Given the description of an element on the screen output the (x, y) to click on. 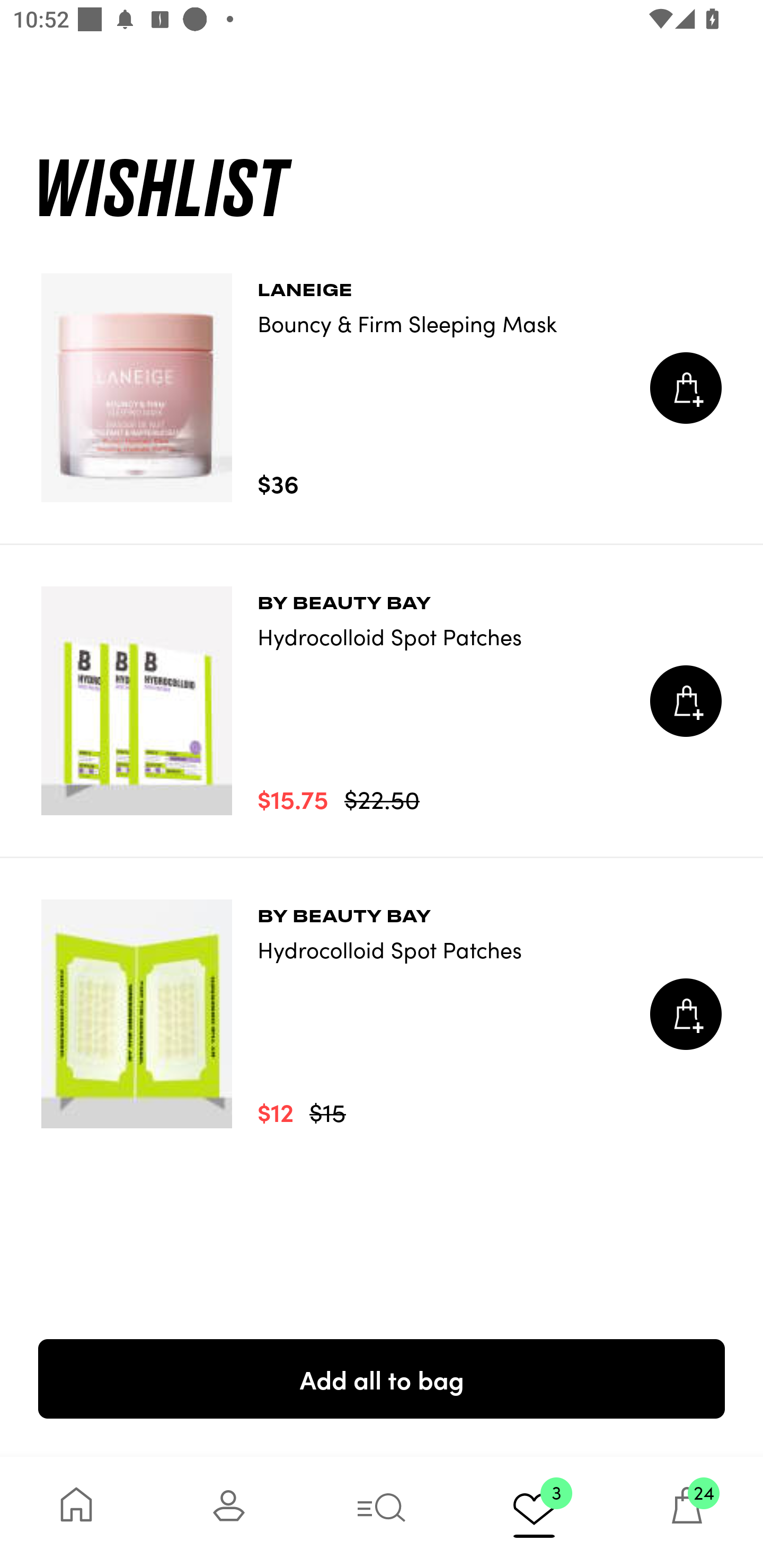
LANEIGE Bouncy & Firm Sleeping Mask $36 (381, 388)
BY BEAUTY BAY Hydrocolloid Spot Patches $12 $15 (381, 1013)
Add all to bag (381, 1379)
3 (533, 1512)
24 (686, 1512)
